Given the description of an element on the screen output the (x, y) to click on. 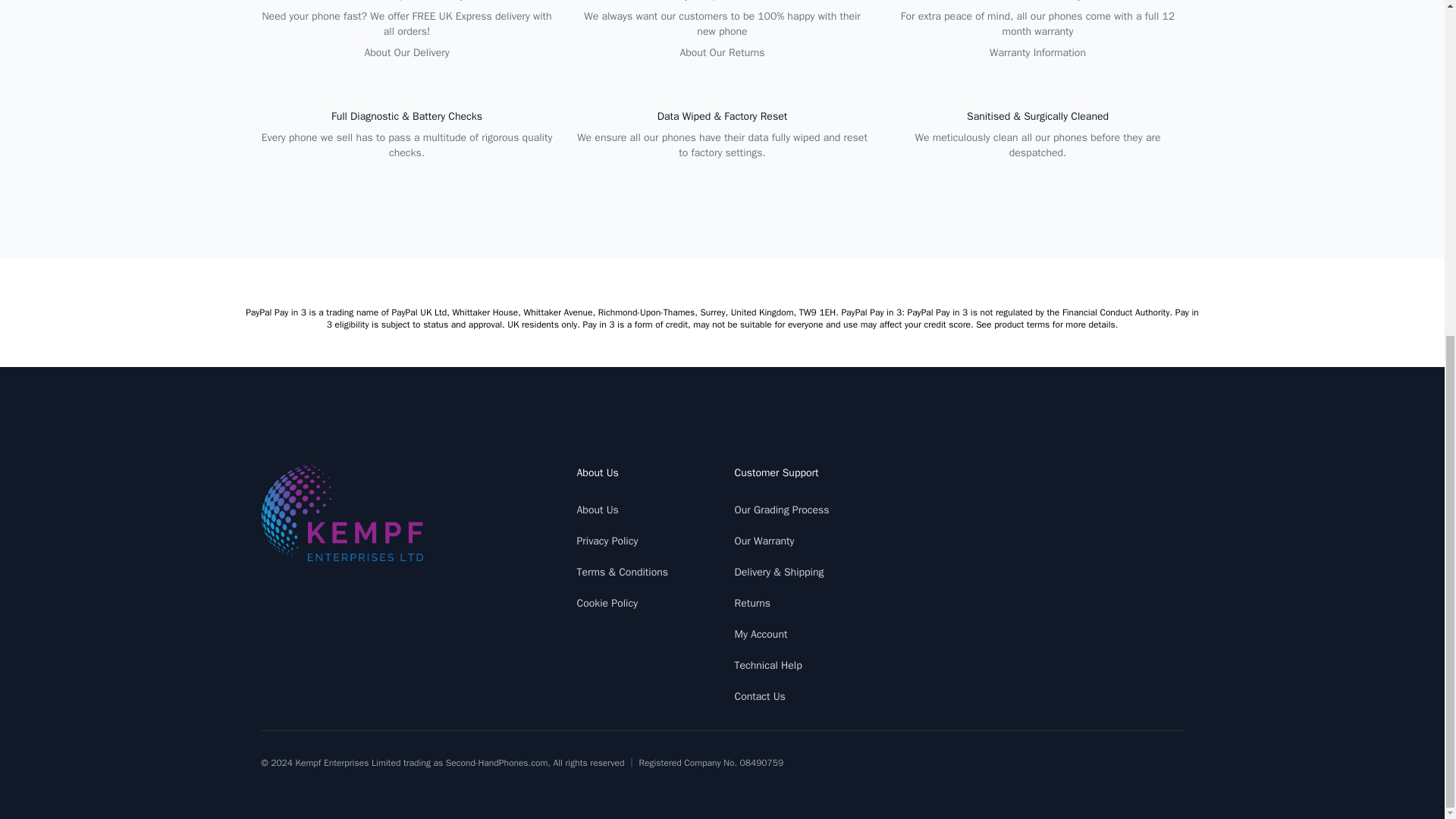
Our Grading Process (780, 509)
Privacy Policy (606, 540)
About Us (596, 509)
Cookie Policy (606, 603)
My Account (760, 634)
Returns (751, 603)
Warranty Information (1038, 51)
Our Warranty (763, 540)
About Our Delivery (406, 51)
Contact Us (758, 696)
Technical Help (767, 665)
About Our Returns (721, 51)
See product terms for more details (1045, 324)
